Given the description of an element on the screen output the (x, y) to click on. 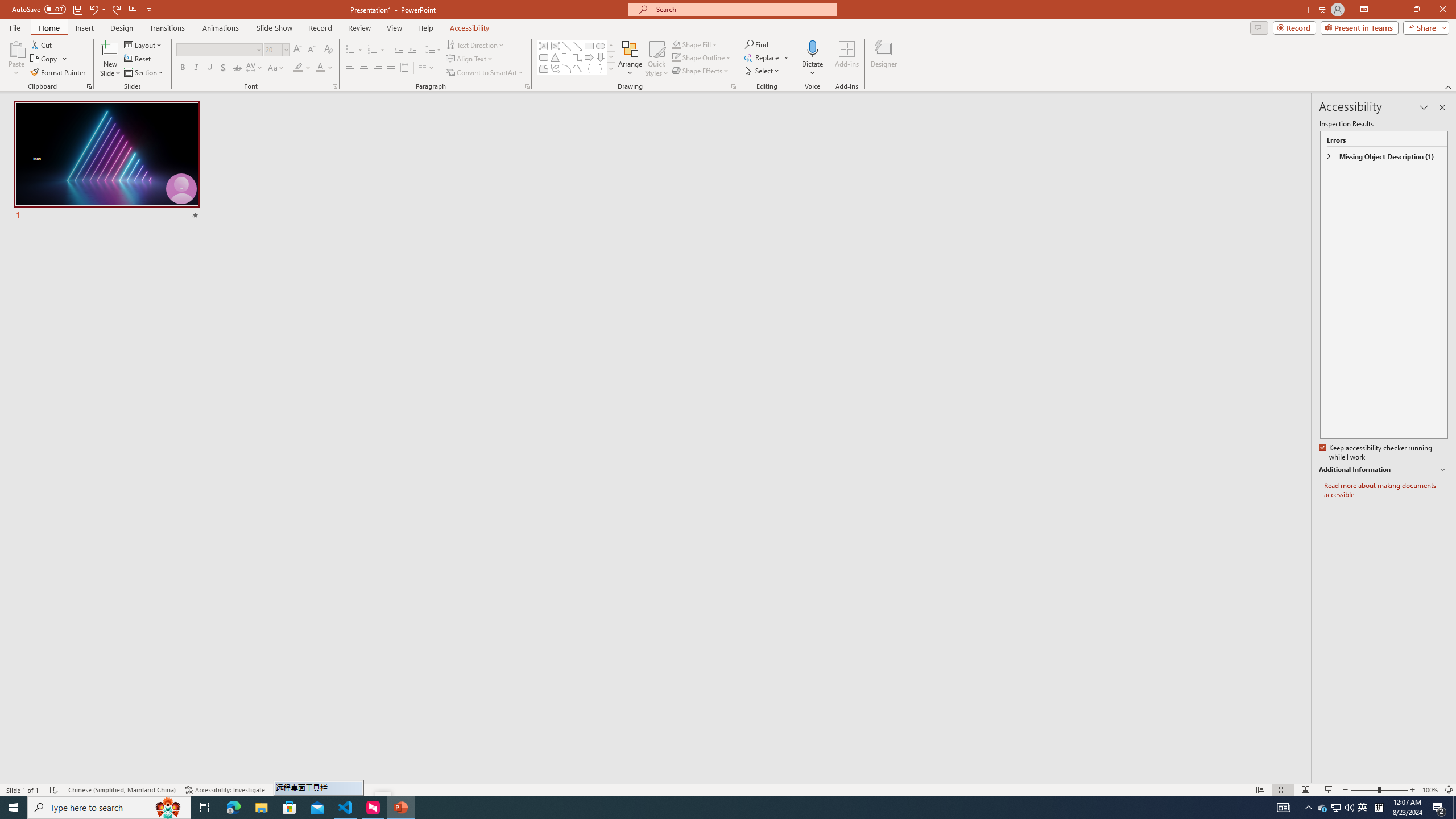
Find... (756, 44)
Convert to SmartArt (485, 72)
Bold (182, 67)
Change Case (276, 67)
Line (566, 45)
Arrow: Down (600, 57)
